Given the description of an element on the screen output the (x, y) to click on. 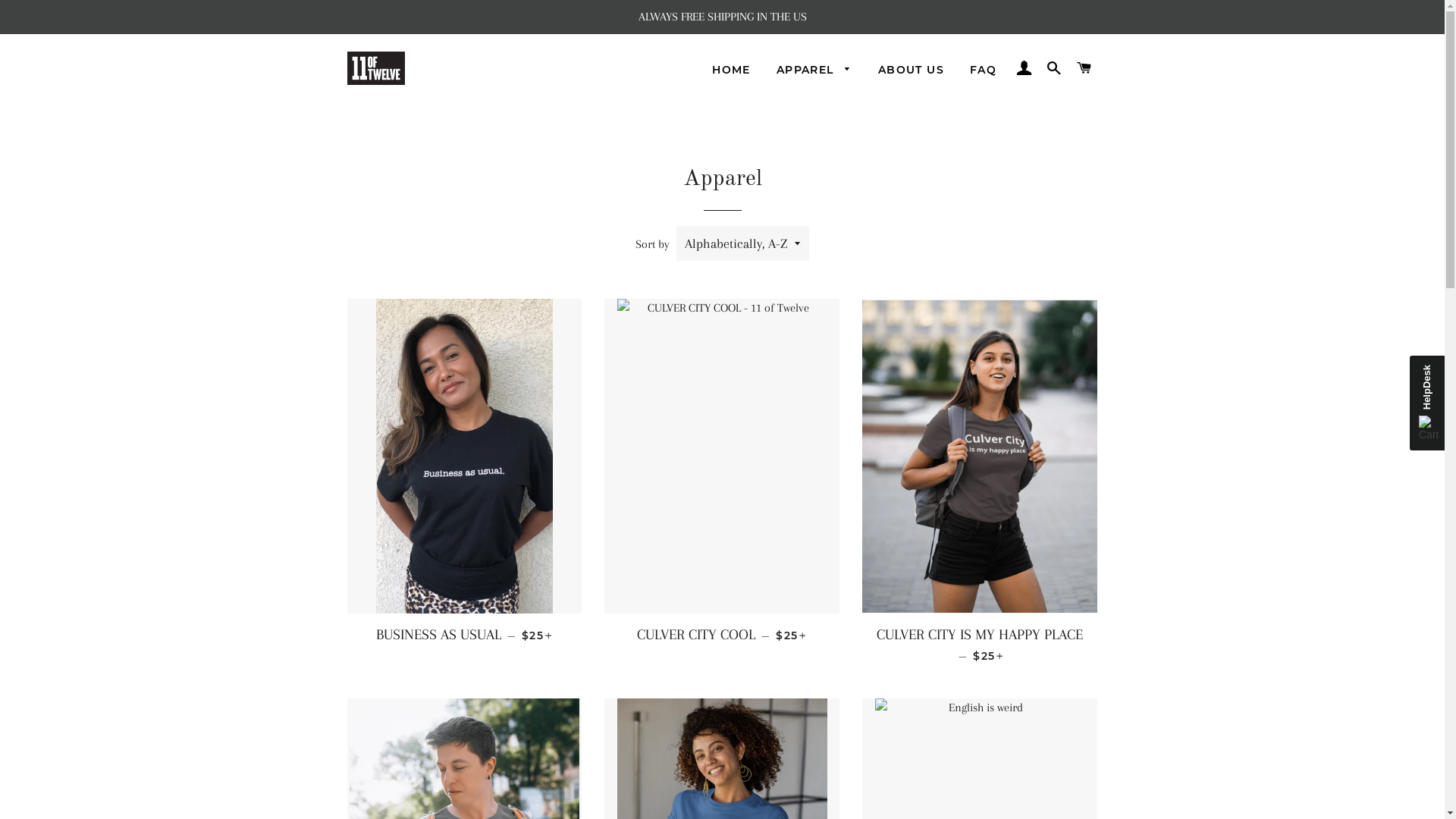
HOME Element type: text (731, 70)
ABOUT US Element type: text (910, 70)
SEARCH Element type: text (1054, 68)
CART Element type: text (1083, 68)
APPAREL Element type: text (814, 70)
LOG IN Element type: text (1023, 68)
ALWAYS FREE SHIPPING IN THE US Element type: text (722, 17)
FAQ Element type: text (982, 70)
